Given the description of an element on the screen output the (x, y) to click on. 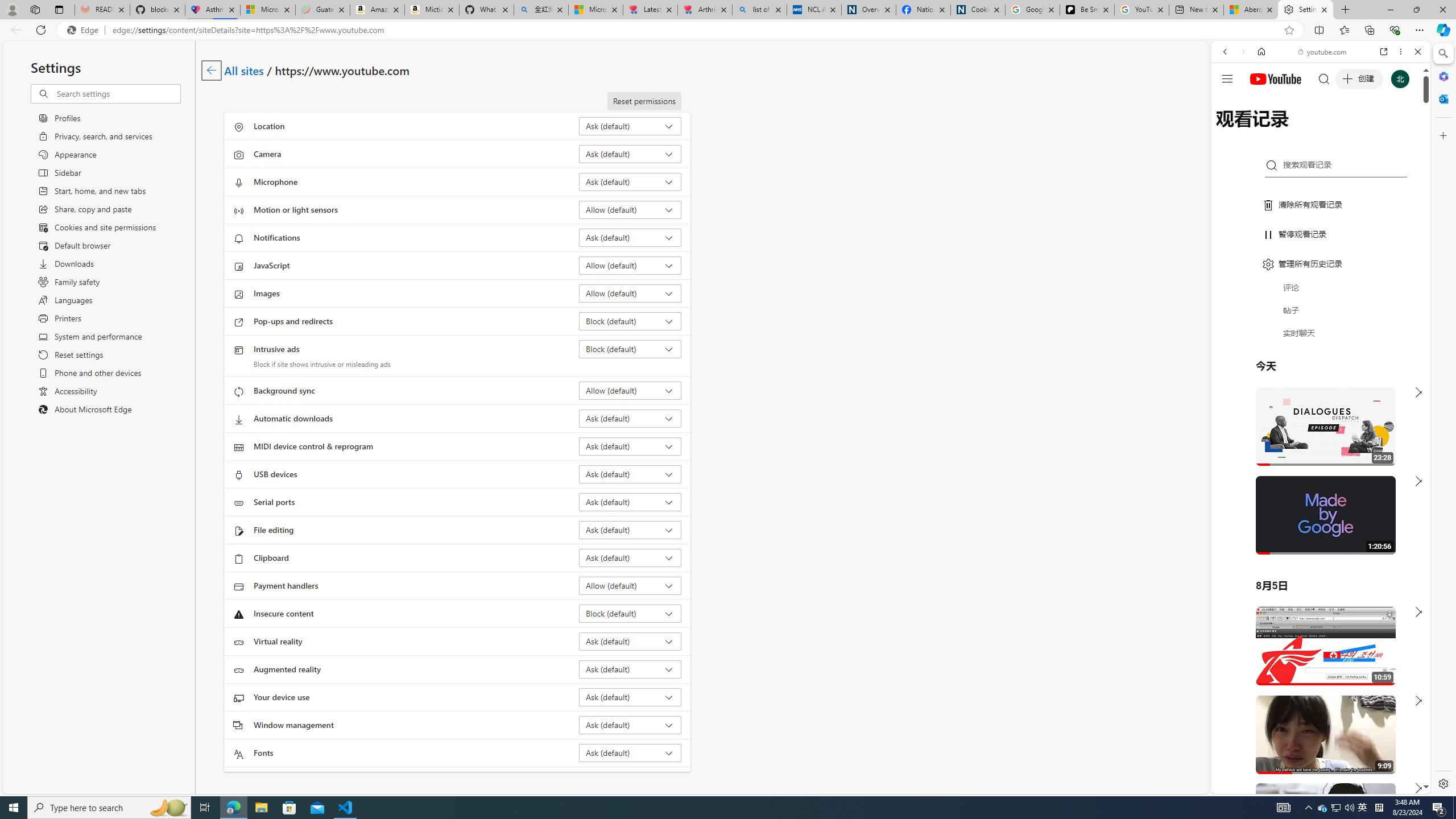
Microphone Ask (default) (630, 181)
Serial ports Ask (default) (630, 502)
Reset permissions (644, 100)
